Given the description of an element on the screen output the (x, y) to click on. 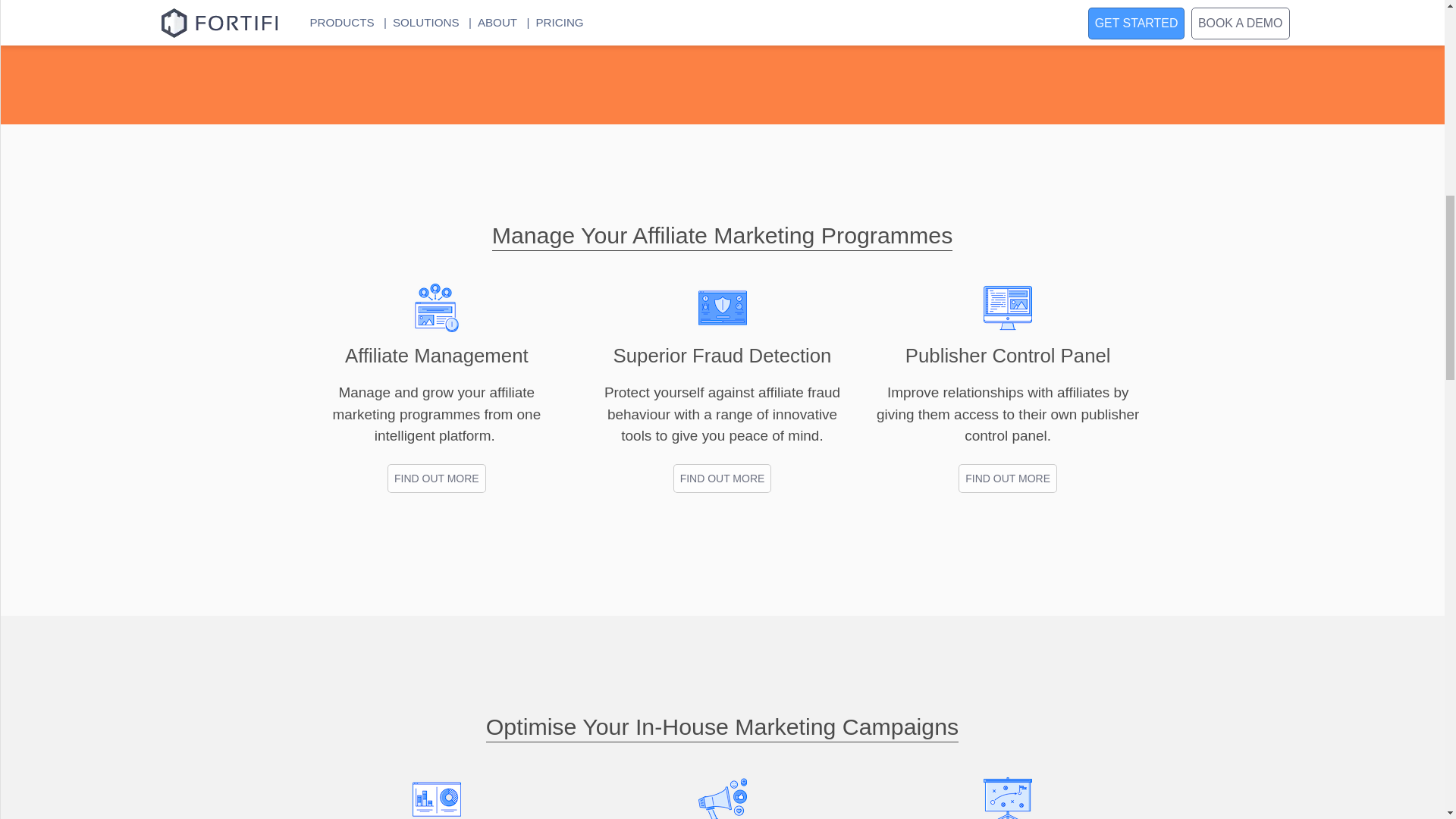
FIND OUT MORE (722, 477)
FIND OUT MORE (721, 478)
FIND OUT MORE (436, 478)
FIND OUT MORE (1007, 477)
FIND OUT MORE (436, 477)
FIND OUT MORE (1007, 478)
